Given the description of an element on the screen output the (x, y) to click on. 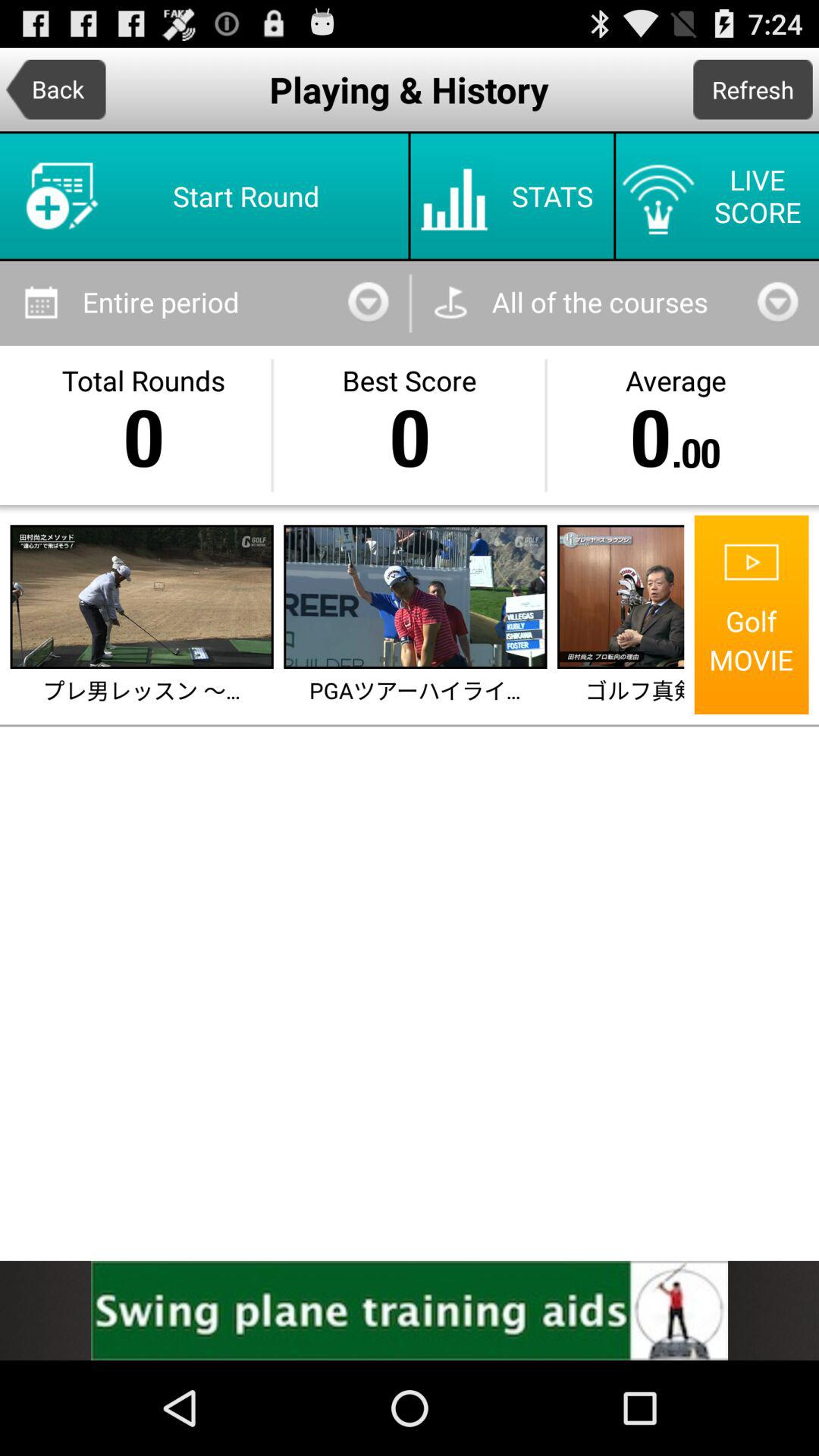
open image (415, 596)
